Given the description of an element on the screen output the (x, y) to click on. 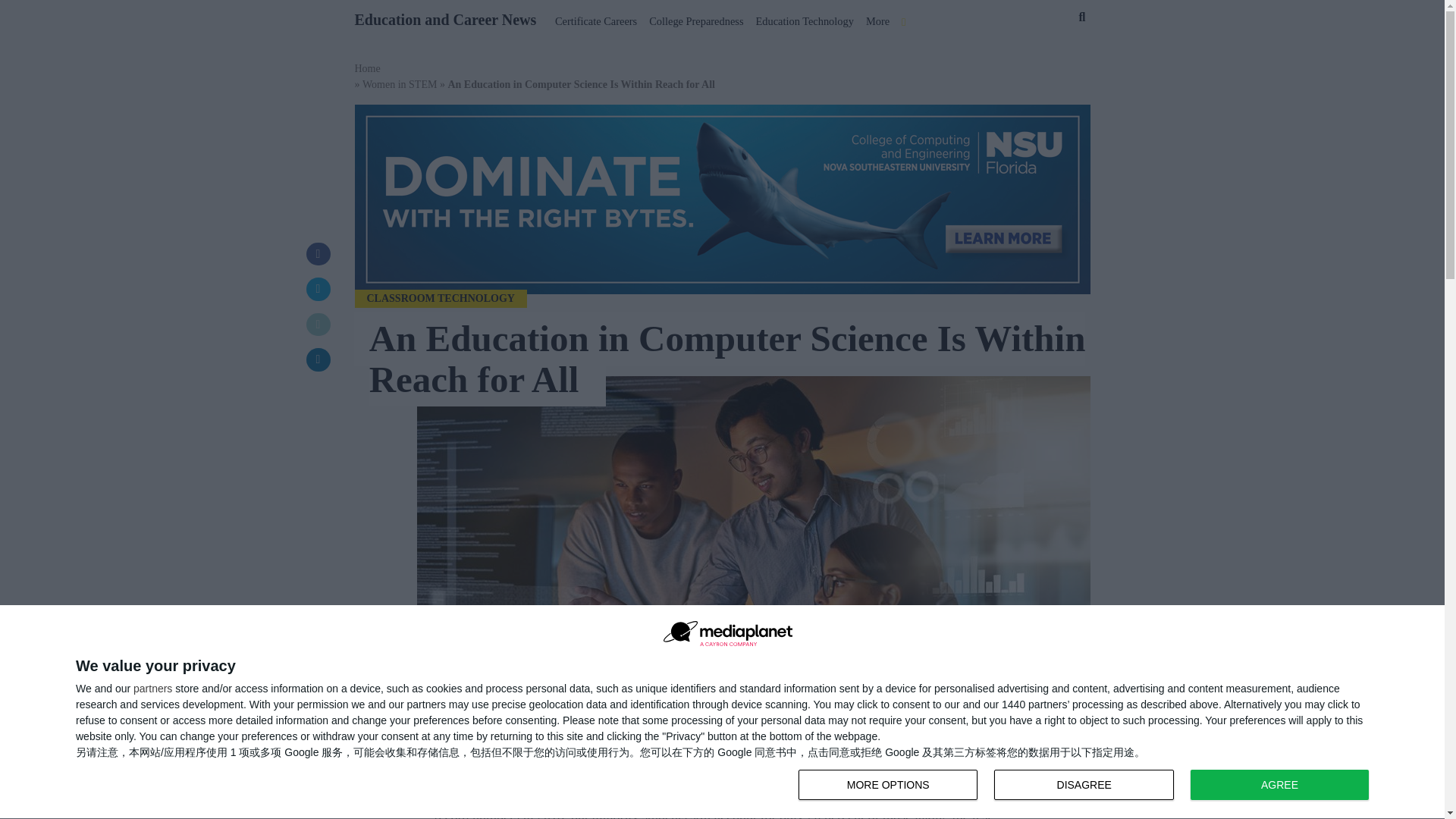
More (877, 18)
DISAGREE (1083, 784)
College Preparedness (696, 18)
AGREE (1279, 784)
Education Technology (804, 18)
partners (152, 688)
Education and Career News (446, 17)
MORE OPTIONS (886, 784)
Certificate Careers (1086, 785)
